Given the description of an element on the screen output the (x, y) to click on. 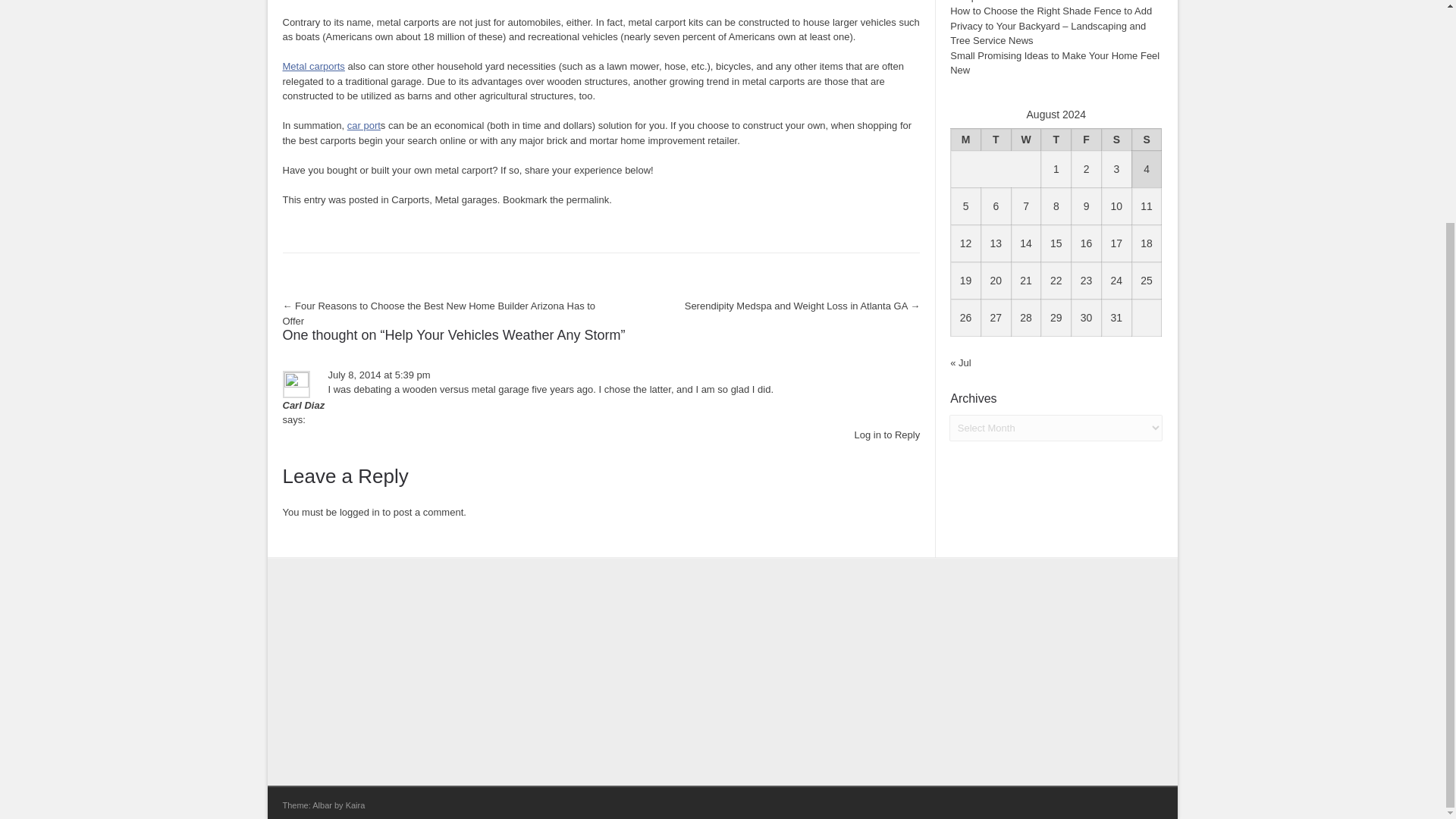
Wednesday (1025, 138)
Garage buildings, Garage buildings (363, 125)
Sunday (1146, 138)
Carports (410, 198)
Log in to Reply (886, 433)
Carport, Metal carport kits (312, 66)
Carl Diaz (303, 405)
logged in (359, 511)
Permalink to Help Your Vehicles Weather Any Storm (587, 198)
Saturday (1115, 138)
Kaira (355, 804)
Metal carports (312, 66)
permalink (587, 198)
Small Promising Ideas to Make Your Home Feel New (1054, 62)
Metal garages (464, 198)
